Given the description of an element on the screen output the (x, y) to click on. 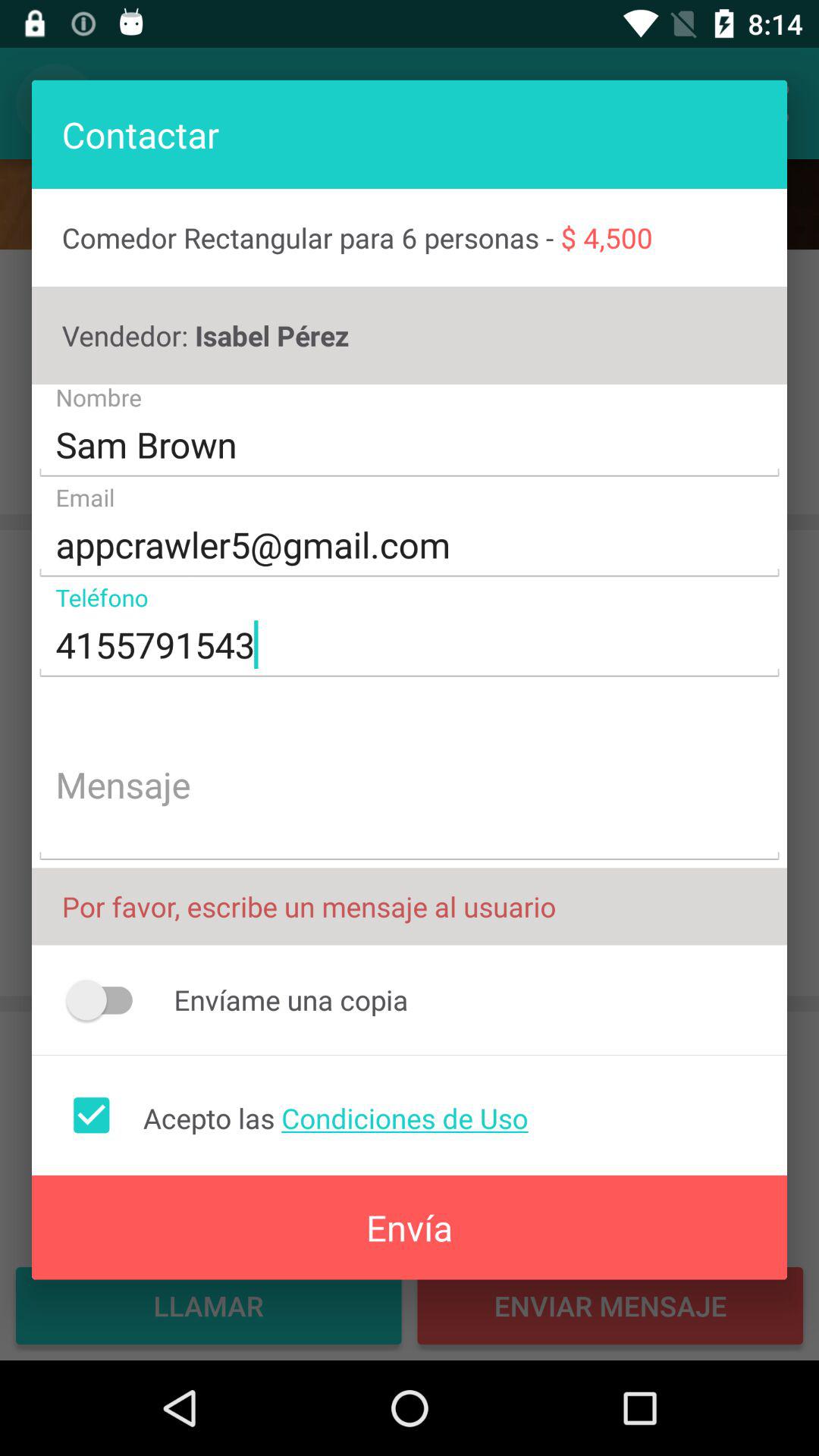
jump to the sam brown (409, 445)
